Given the description of an element on the screen output the (x, y) to click on. 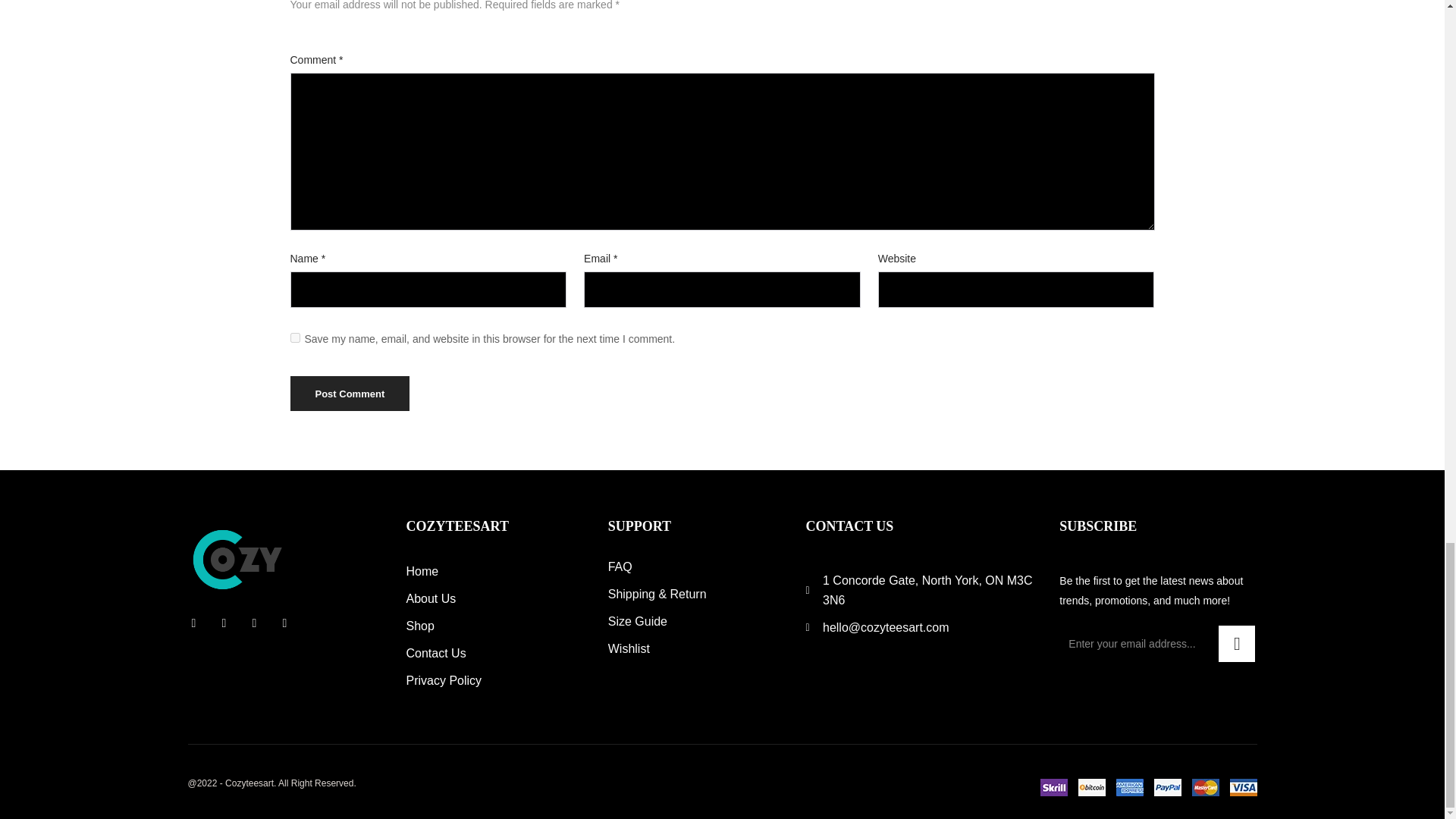
Home (495, 571)
Post Comment (349, 393)
Privacy Policy (495, 680)
Post Comment (349, 393)
yes (294, 337)
Shop (495, 626)
Contact Us (495, 653)
About Us (495, 598)
FAQ (695, 567)
